Given the description of an element on the screen output the (x, y) to click on. 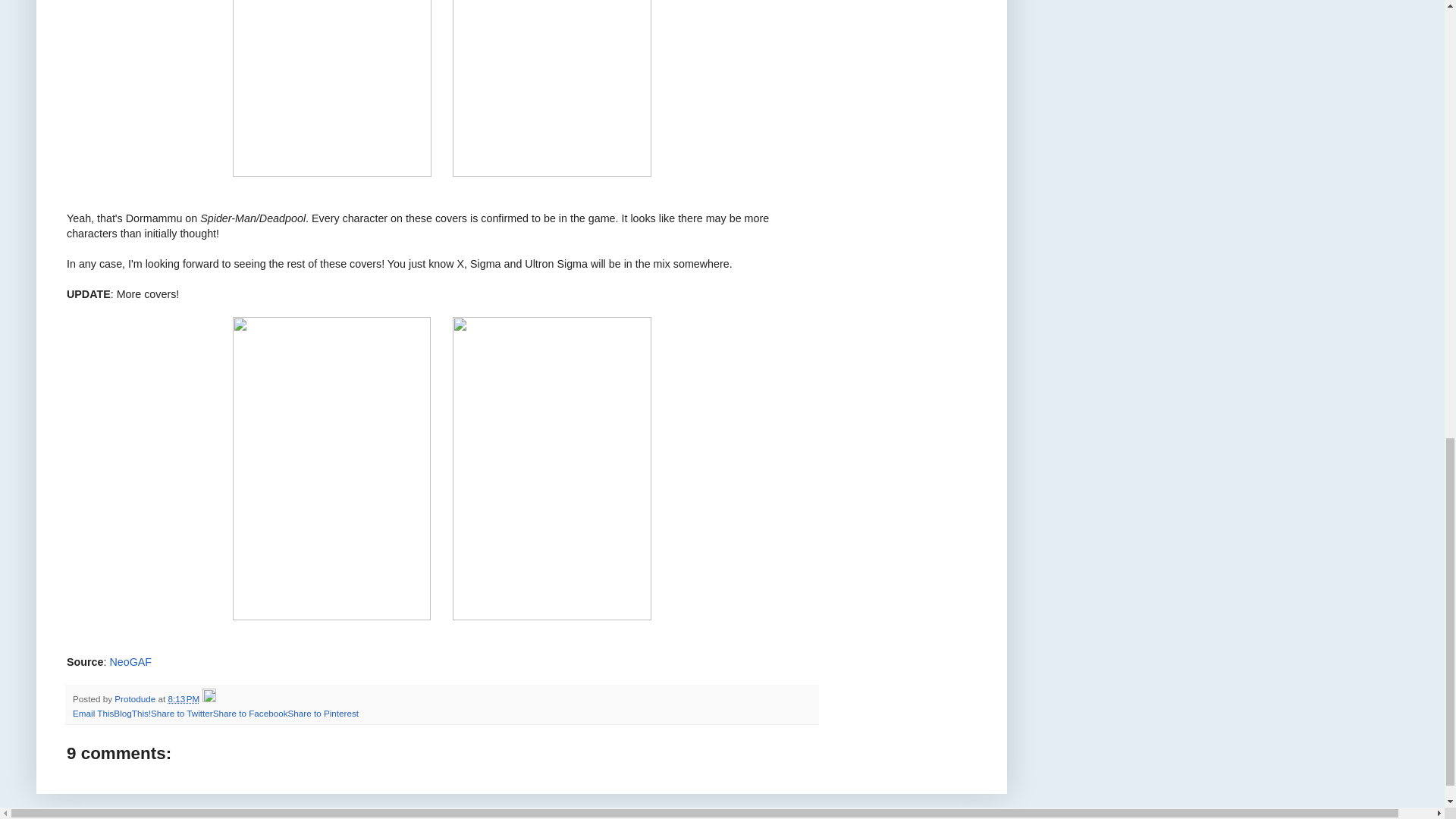
Email This (92, 712)
Share to Pinterest (322, 712)
Share to Facebook (250, 712)
Share to Twitter (181, 712)
Edit Post (208, 698)
Email This (92, 712)
BlogThis! (132, 712)
Share to Twitter (181, 712)
Share to Pinterest (322, 712)
permanent link (183, 698)
author profile (136, 698)
Share to Facebook (250, 712)
BlogThis! (132, 712)
Protodude (136, 698)
